Given the description of an element on the screen output the (x, y) to click on. 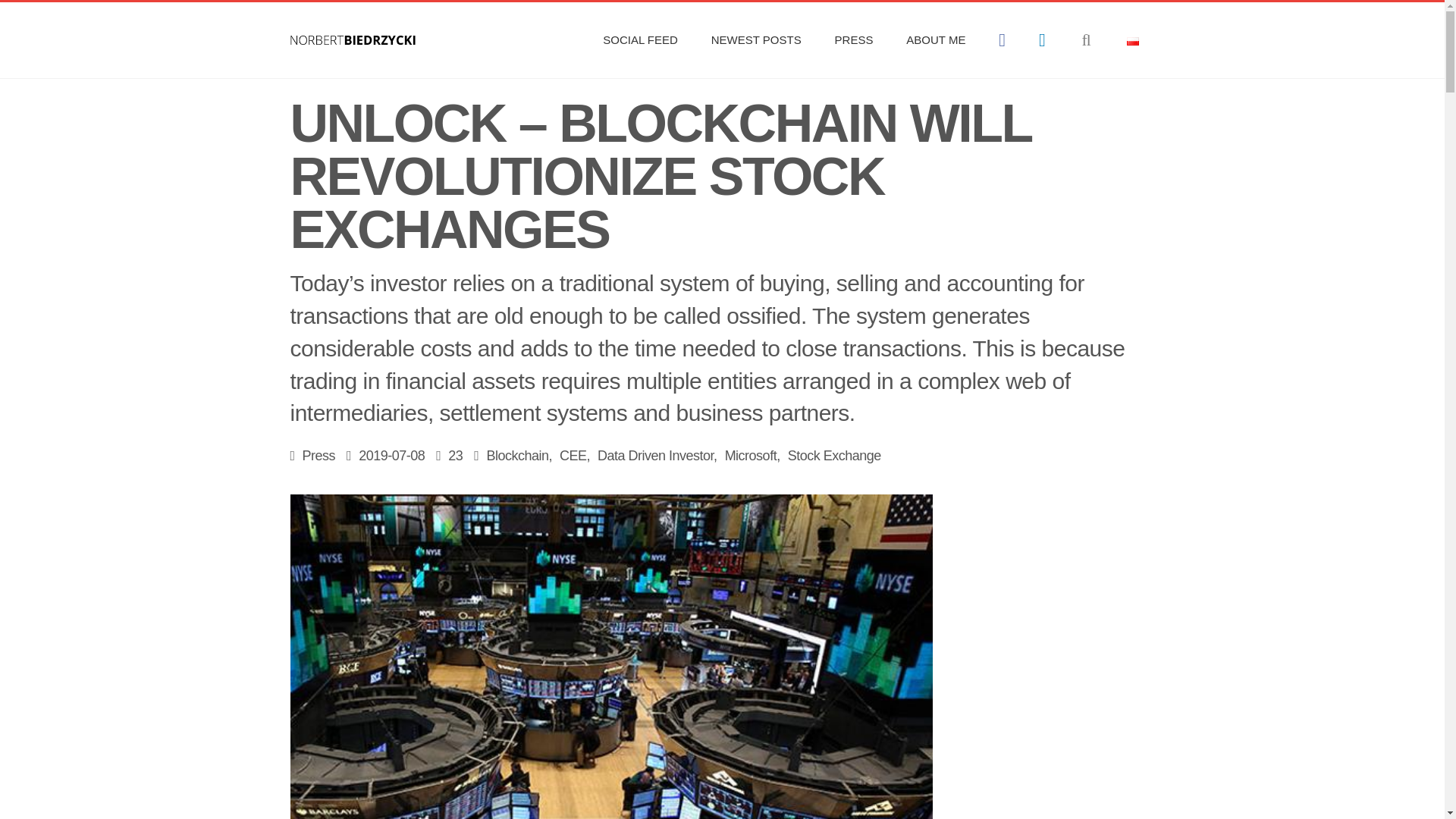
View all posts tagged with Data Driven Investor (654, 455)
NEWEST POSTS (755, 39)
Search (1086, 40)
View all posts tagged with CEE (572, 455)
ABOUT ME (935, 39)
Data Driven Investor (654, 455)
Facebook (1002, 40)
Microsoft (751, 455)
Norbert Biedrzycki (351, 39)
Press (853, 39)
Blockchain (517, 455)
About me (935, 39)
LinkedIn (1042, 40)
Newest Posts (755, 39)
View all posts tagged with Microsoft (751, 455)
